Given the description of an element on the screen output the (x, y) to click on. 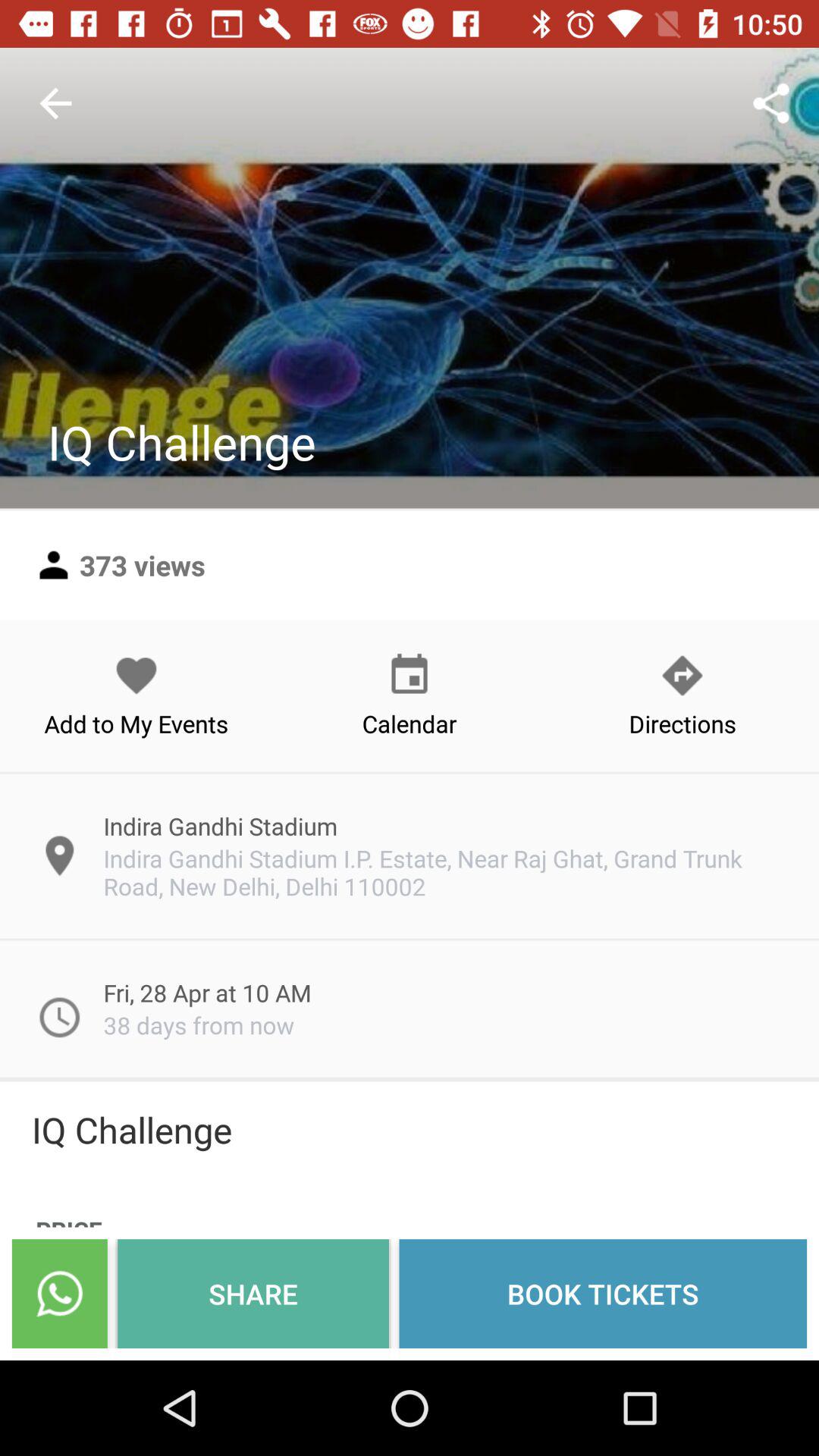
jump to book tickets icon (603, 1293)
